Given the description of an element on the screen output the (x, y) to click on. 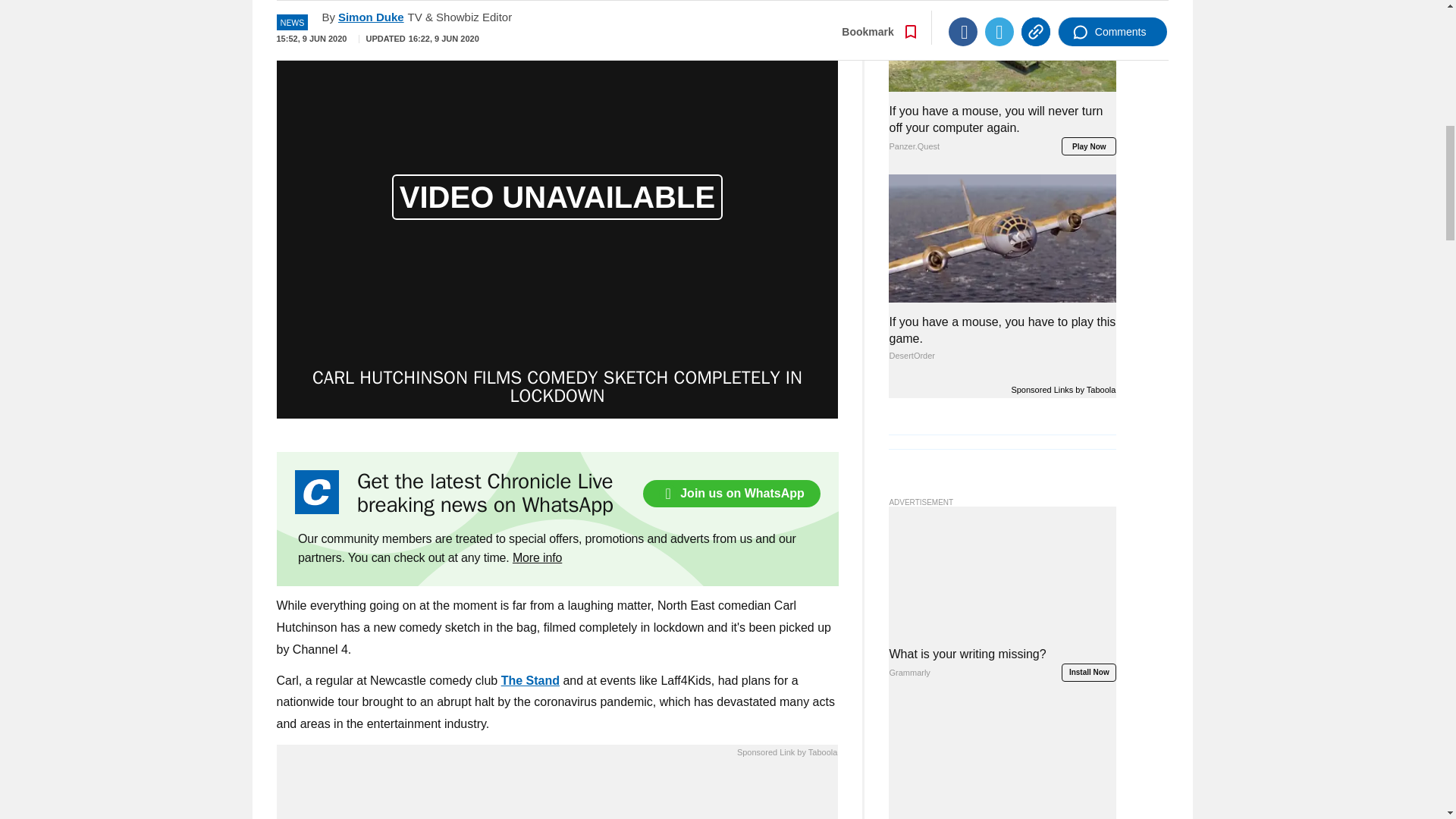
Go (730, 2)
